Given the description of an element on the screen output the (x, y) to click on. 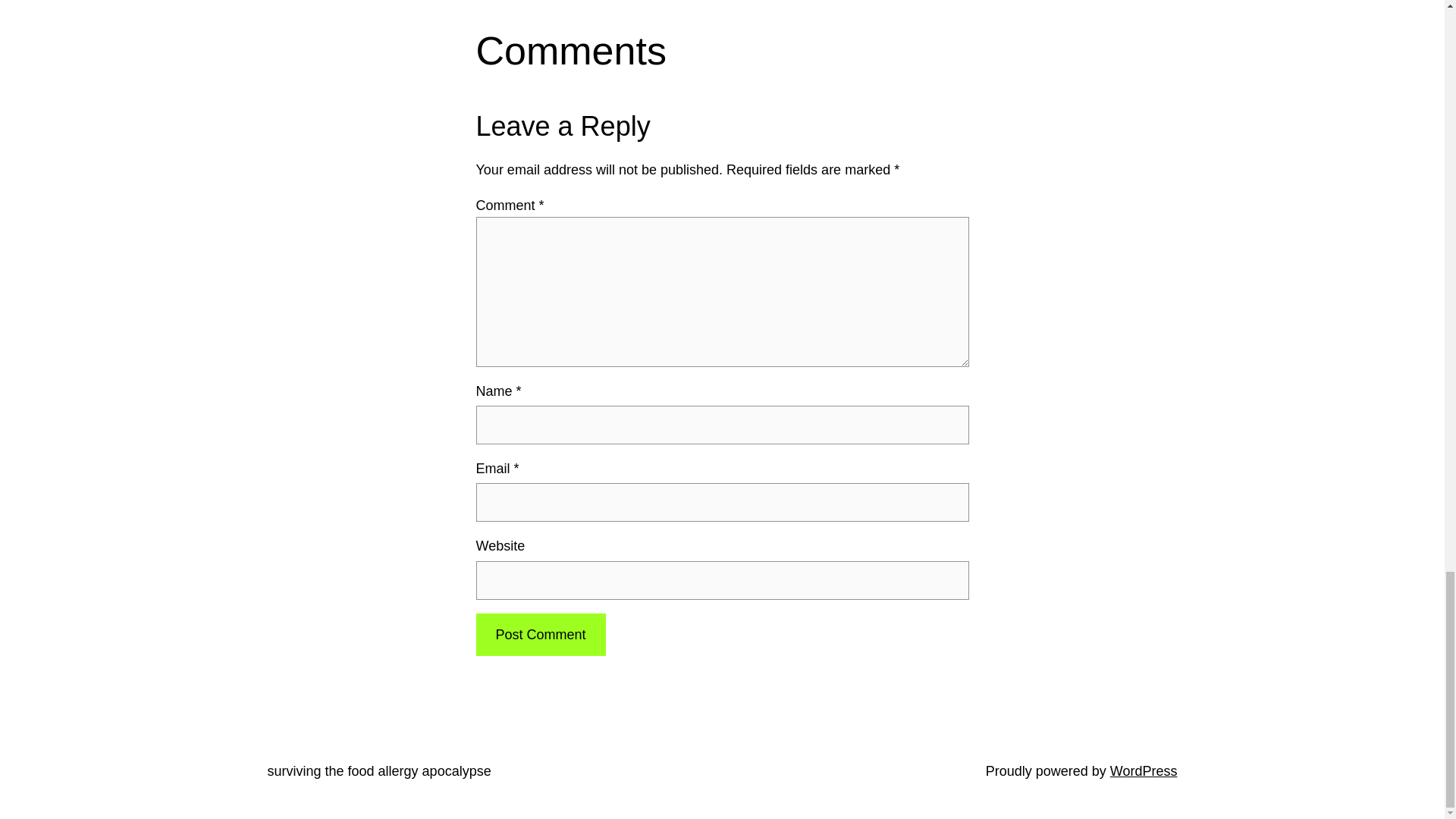
Post Comment (540, 634)
Post Comment (540, 634)
WordPress (1143, 770)
surviving the food allergy apocalypse (378, 770)
